Given the description of an element on the screen output the (x, y) to click on. 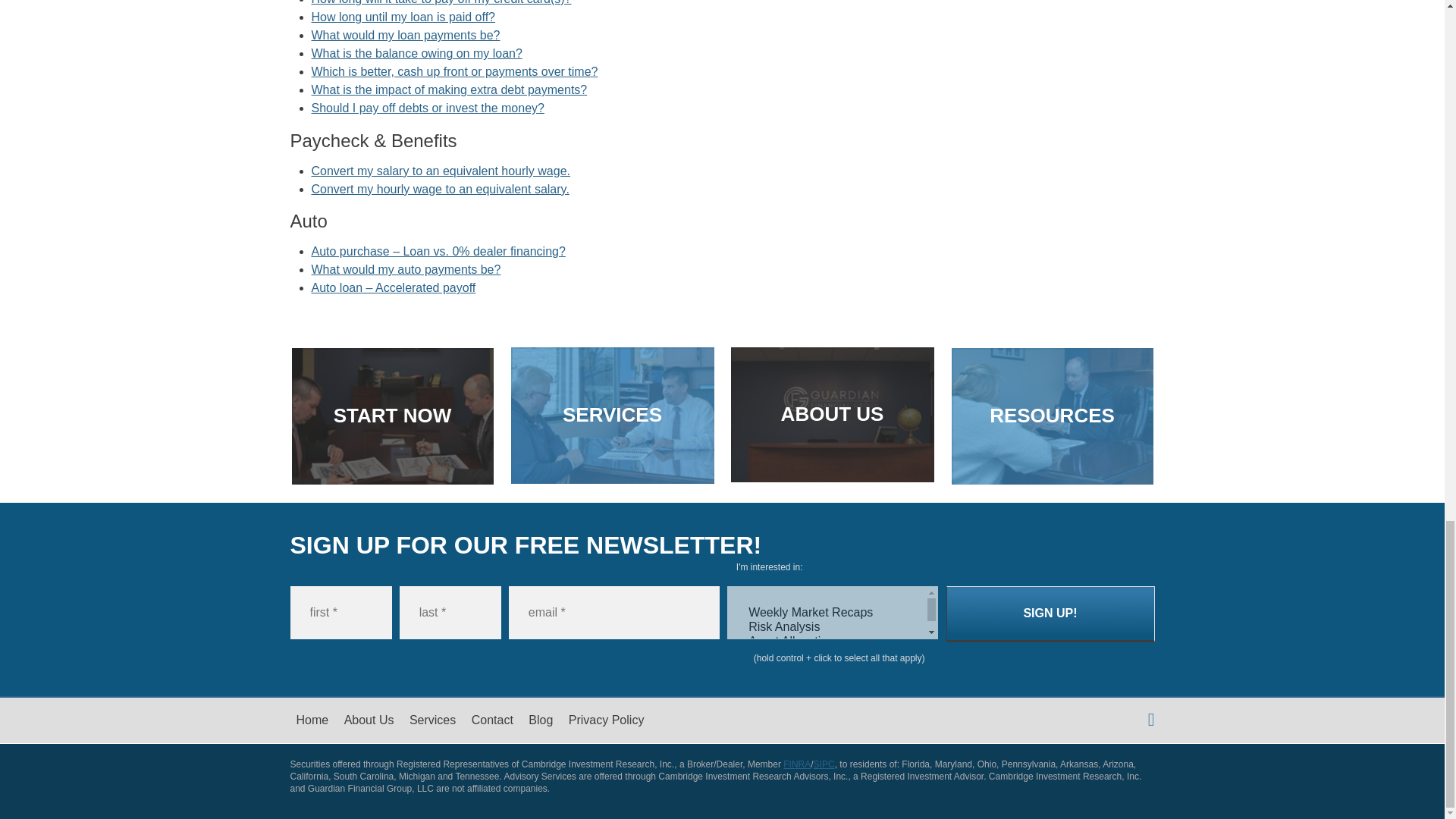
SIGN UP! (1050, 614)
